Given the description of an element on the screen output the (x, y) to click on. 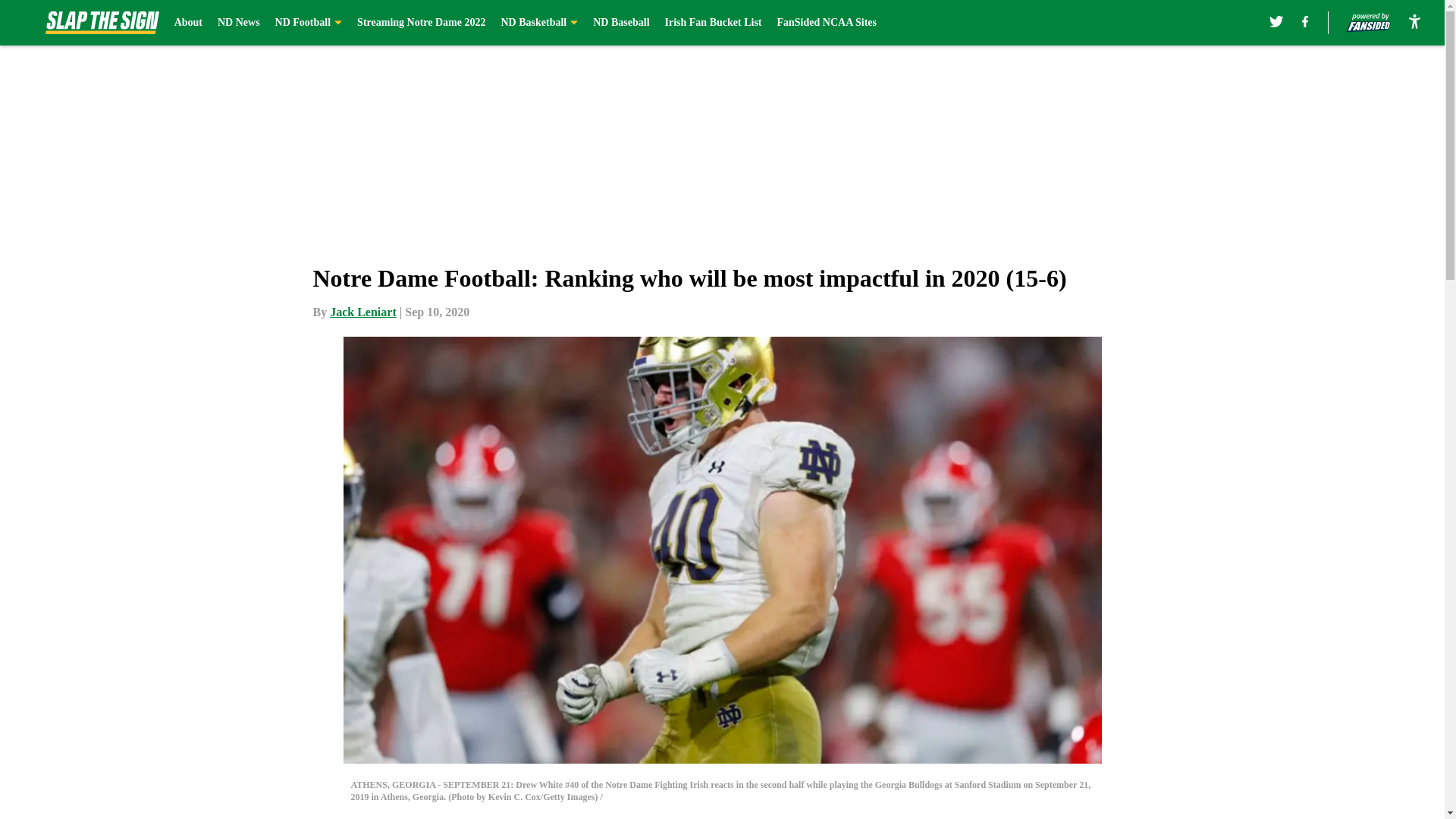
Jack Leniart (363, 311)
FanSided NCAA Sites (826, 22)
Irish Fan Bucket List (713, 22)
ND News (238, 22)
About (188, 22)
Streaming Notre Dame 2022 (420, 22)
ND Baseball (620, 22)
